Given the description of an element on the screen output the (x, y) to click on. 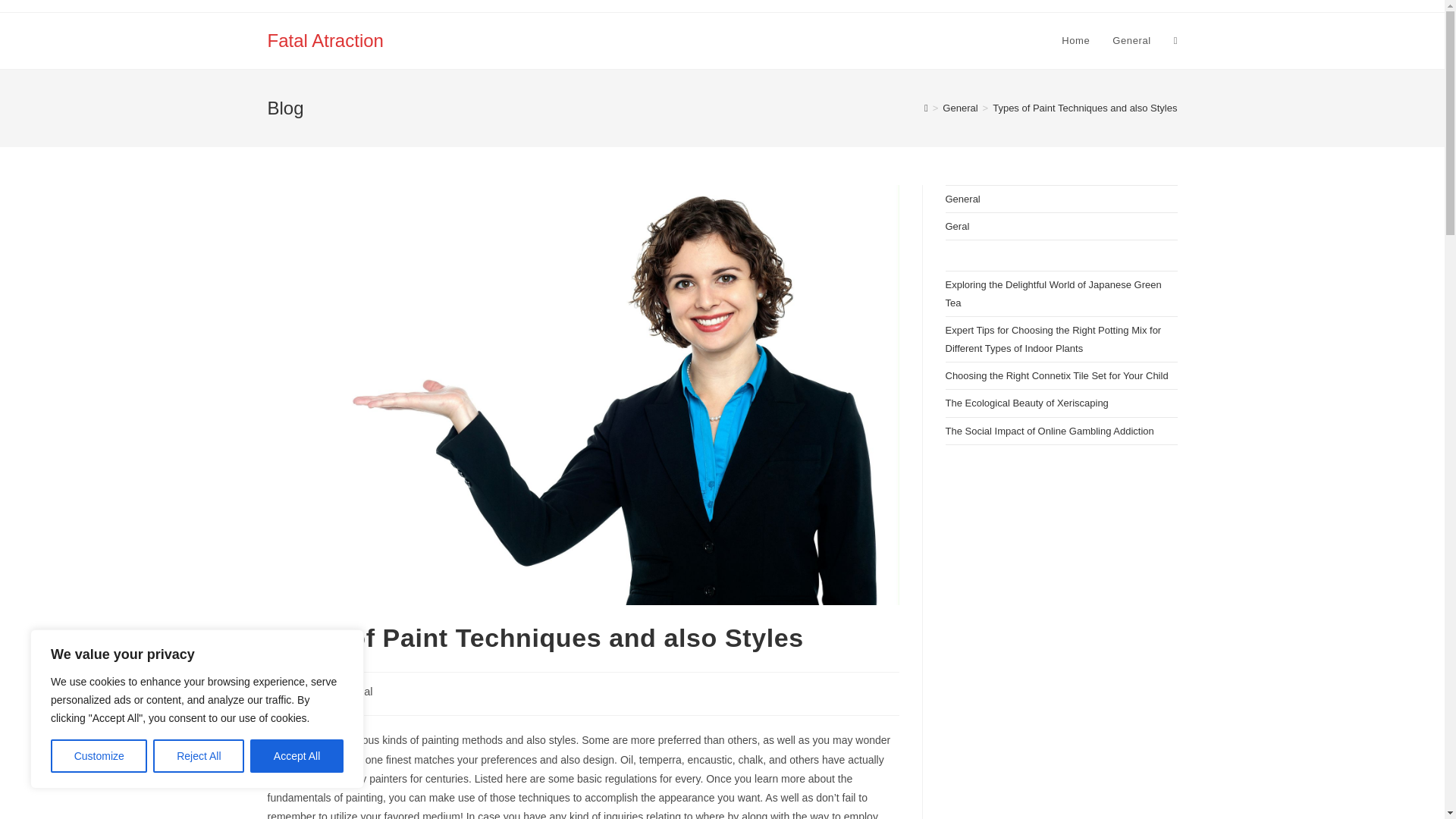
Accept All (296, 756)
Fatal Atraction (324, 40)
General (959, 107)
Home (1074, 40)
General (352, 691)
Types of Paint Techniques and also Styles (1084, 107)
Customize (98, 756)
Reject All (198, 756)
General (1130, 40)
